Given the description of an element on the screen output the (x, y) to click on. 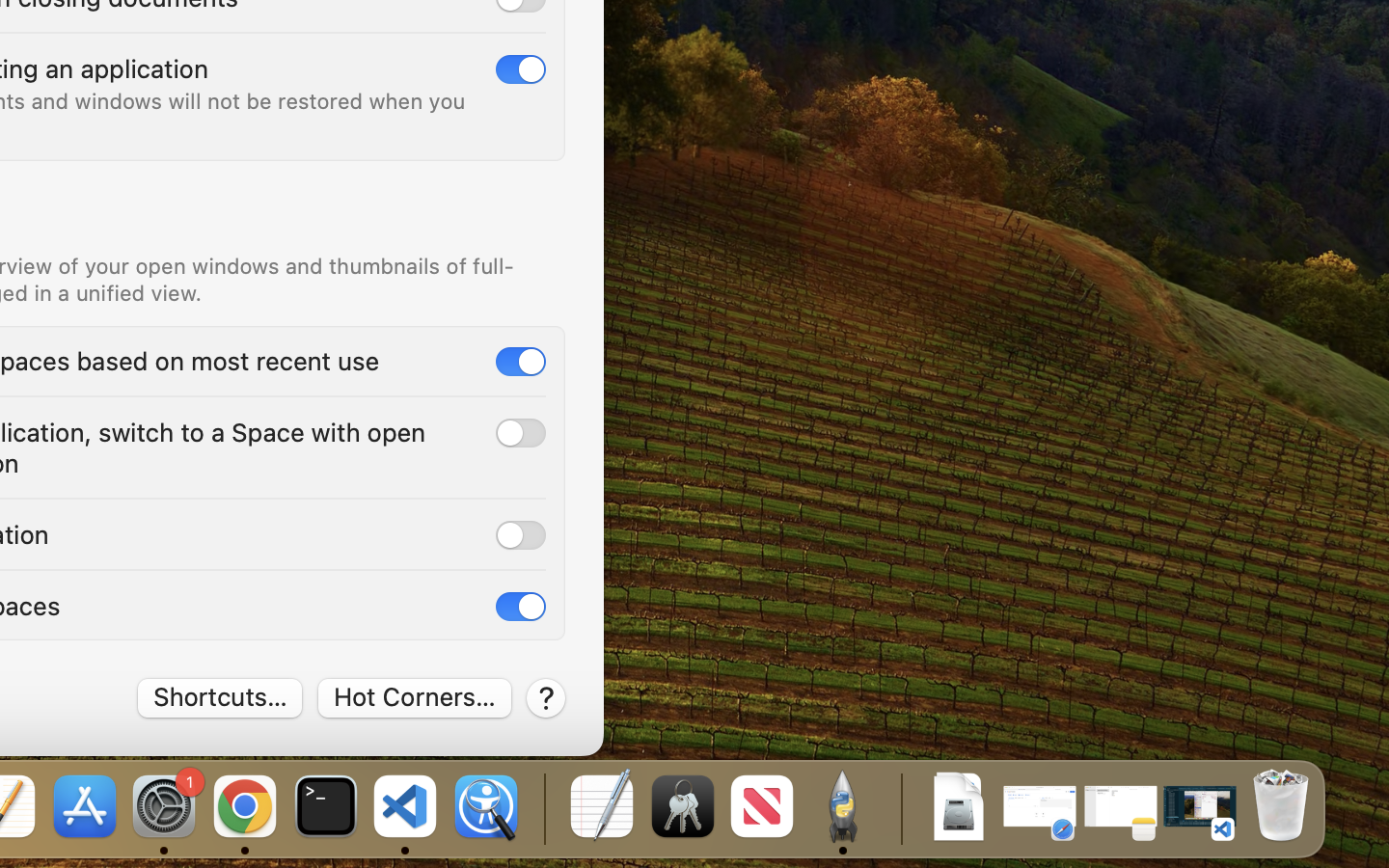
0.4285714328289032 Element type: AXDockItem (541, 807)
